Given the description of an element on the screen output the (x, y) to click on. 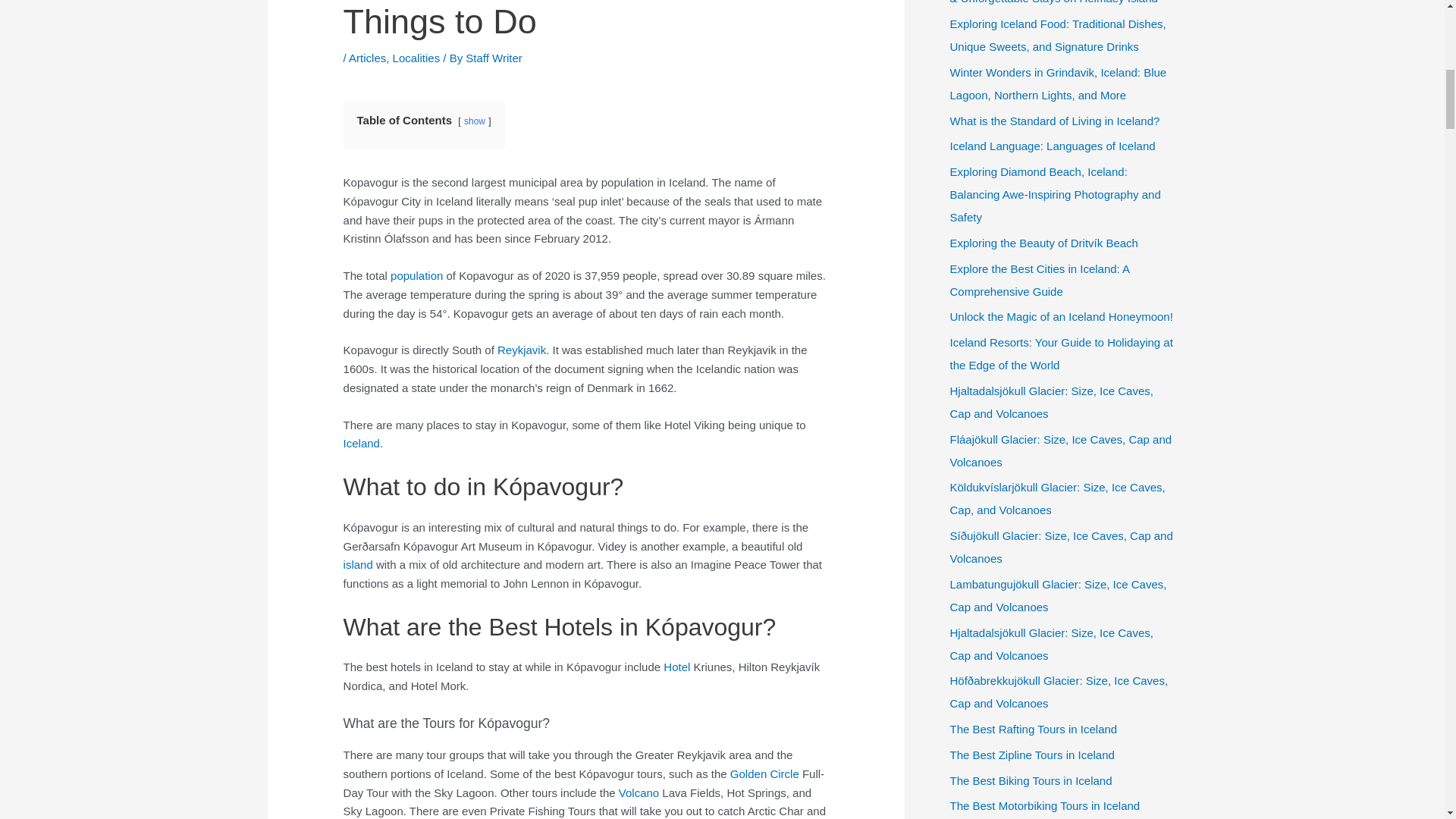
population (416, 275)
Golden Circle (764, 773)
Reykjavik (521, 349)
Iceland (361, 442)
island (357, 563)
Volcano (638, 792)
Hotel (676, 666)
View all posts by Staff Writer (493, 57)
